Given the description of an element on the screen output the (x, y) to click on. 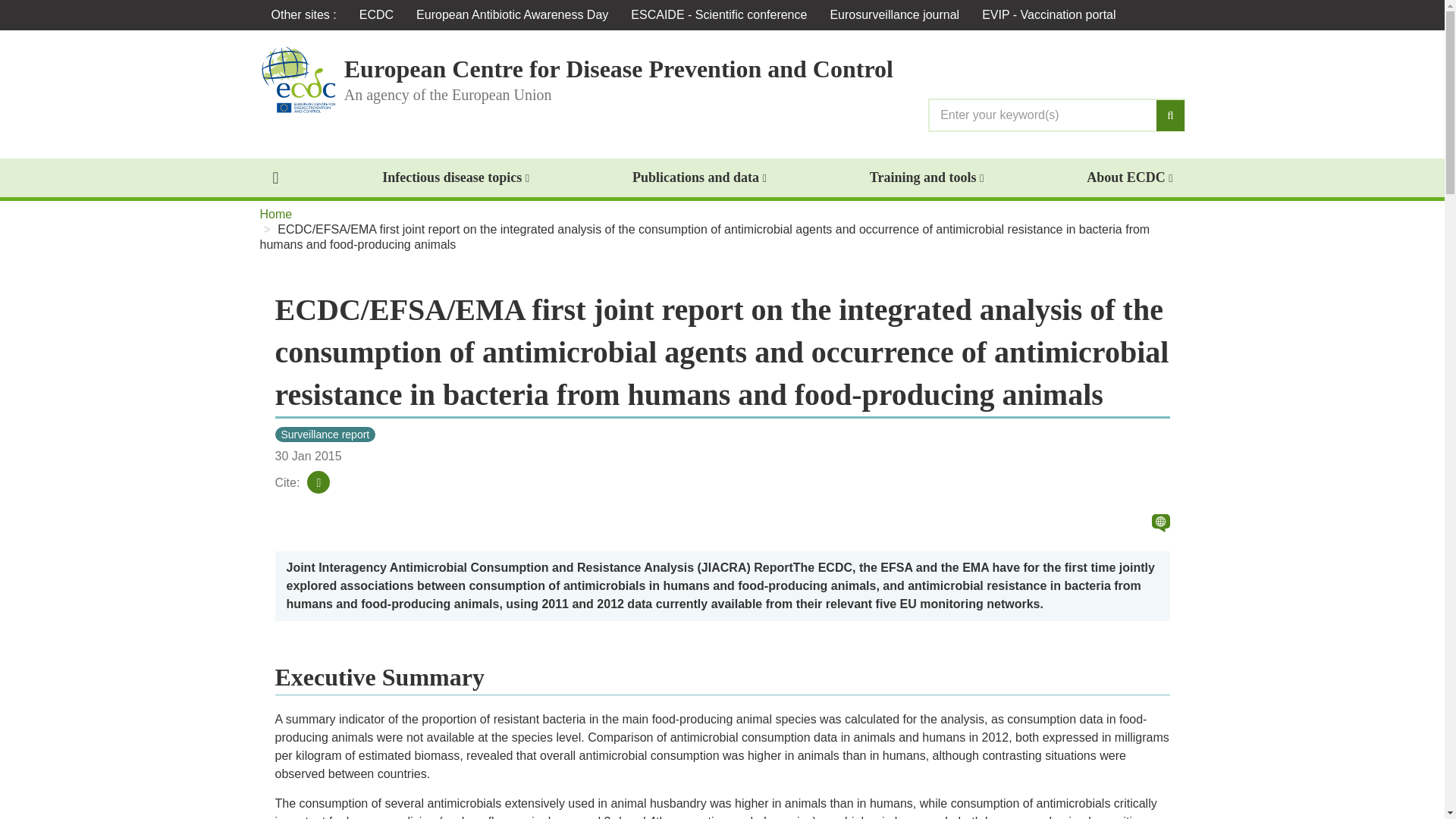
EVIP - Vaccination portal (1048, 15)
ESCAIDE - Scientific conference (719, 15)
European Antibiotic Awareness Day (512, 15)
ECDC (375, 15)
Other sites (303, 15)
Home (297, 78)
Copy to clipboard (304, 499)
Eurosurveillance journal (894, 15)
